Given the description of an element on the screen output the (x, y) to click on. 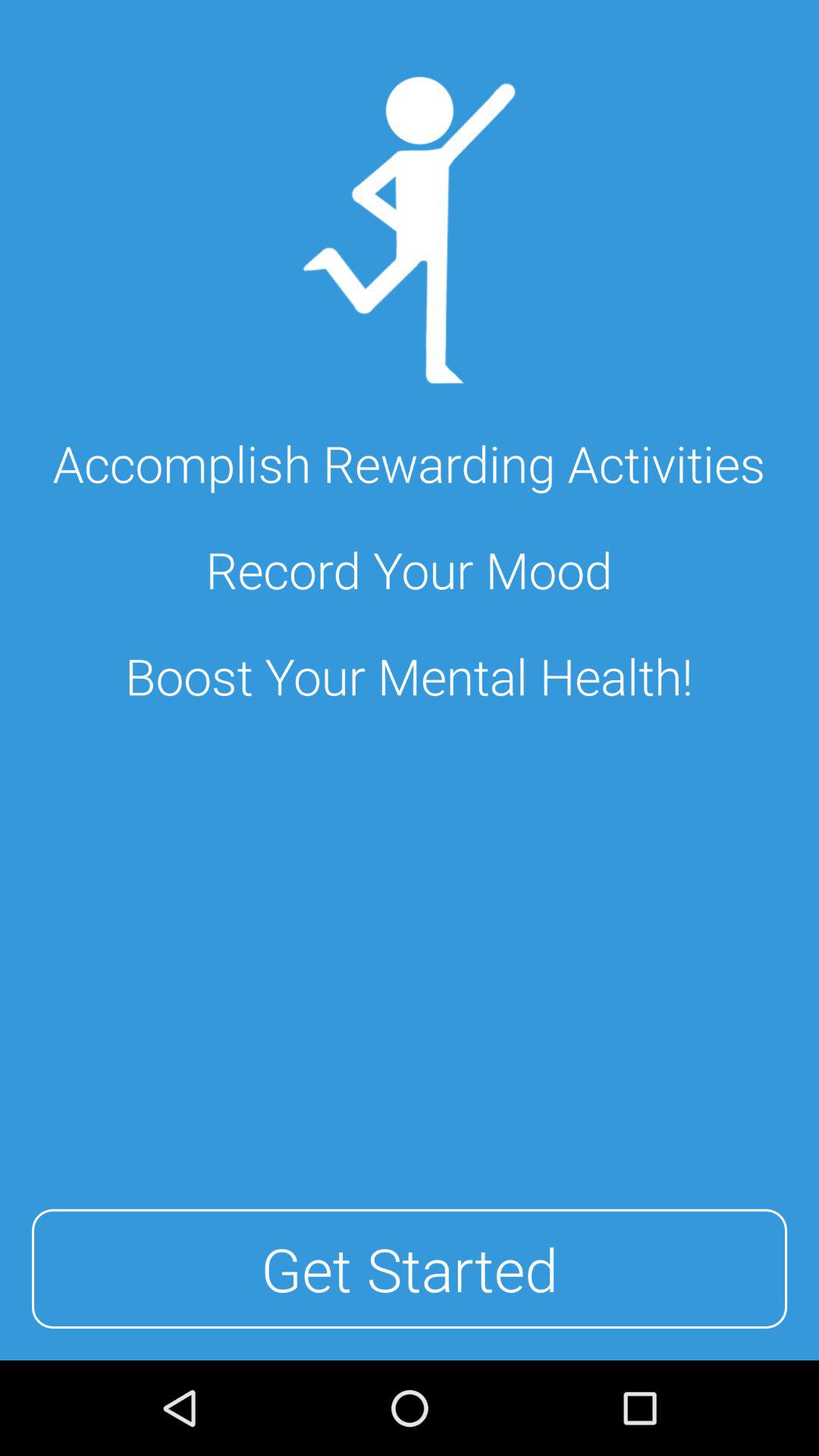
scroll to the get started item (409, 1268)
